Given the description of an element on the screen output the (x, y) to click on. 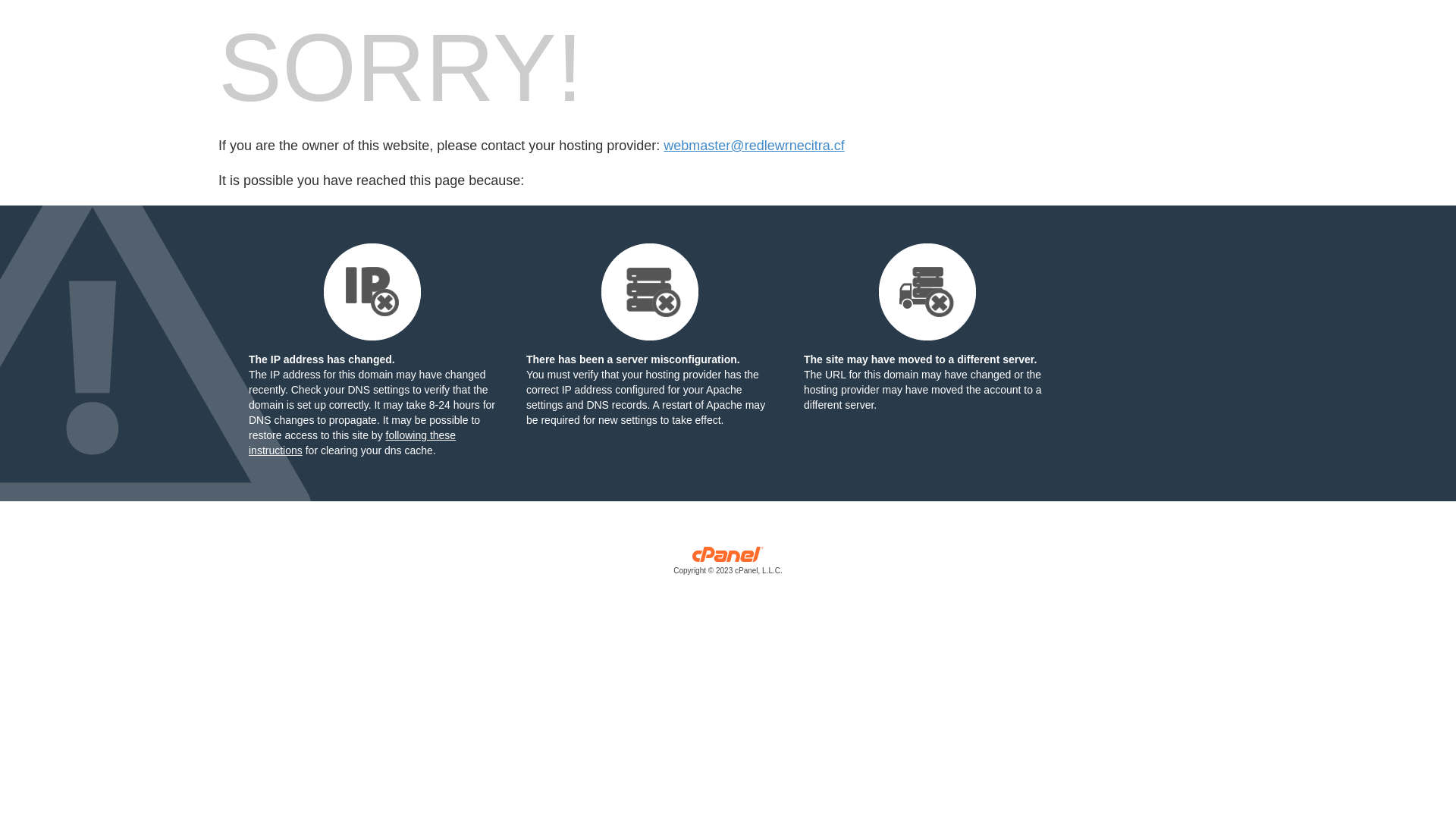
following these instructions Element type: text (351, 442)
webmaster@redlewrnecitra.cf Element type: text (753, 145)
